Given the description of an element on the screen output the (x, y) to click on. 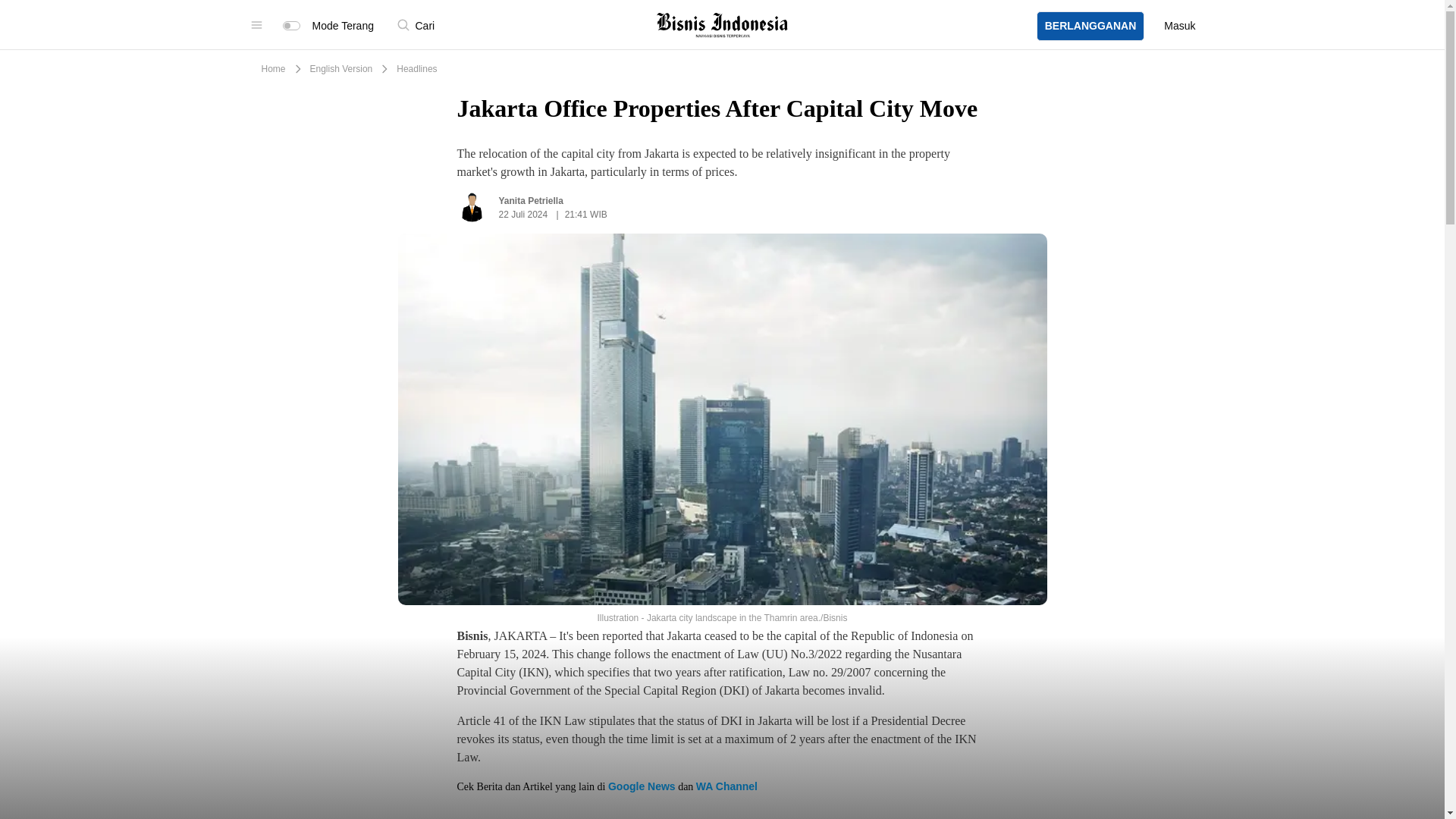
English Version (341, 69)
BERLANGGANAN (1091, 9)
Google News (641, 786)
Masuk (1179, 13)
Home (272, 69)
WA Channel (726, 786)
Headlines (416, 69)
